Given the description of an element on the screen output the (x, y) to click on. 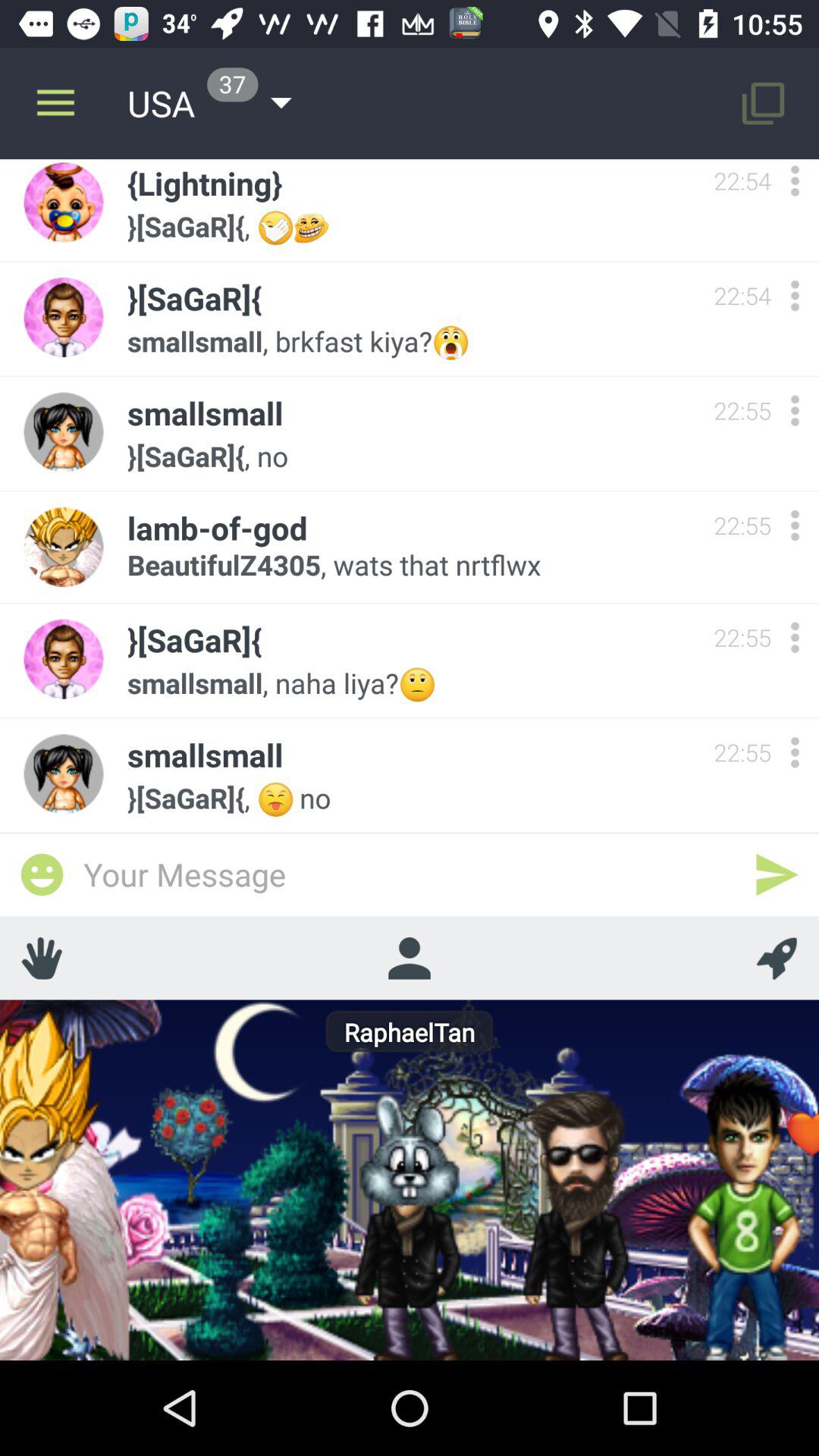
select to enter your message (409, 873)
